Given the description of an element on the screen output the (x, y) to click on. 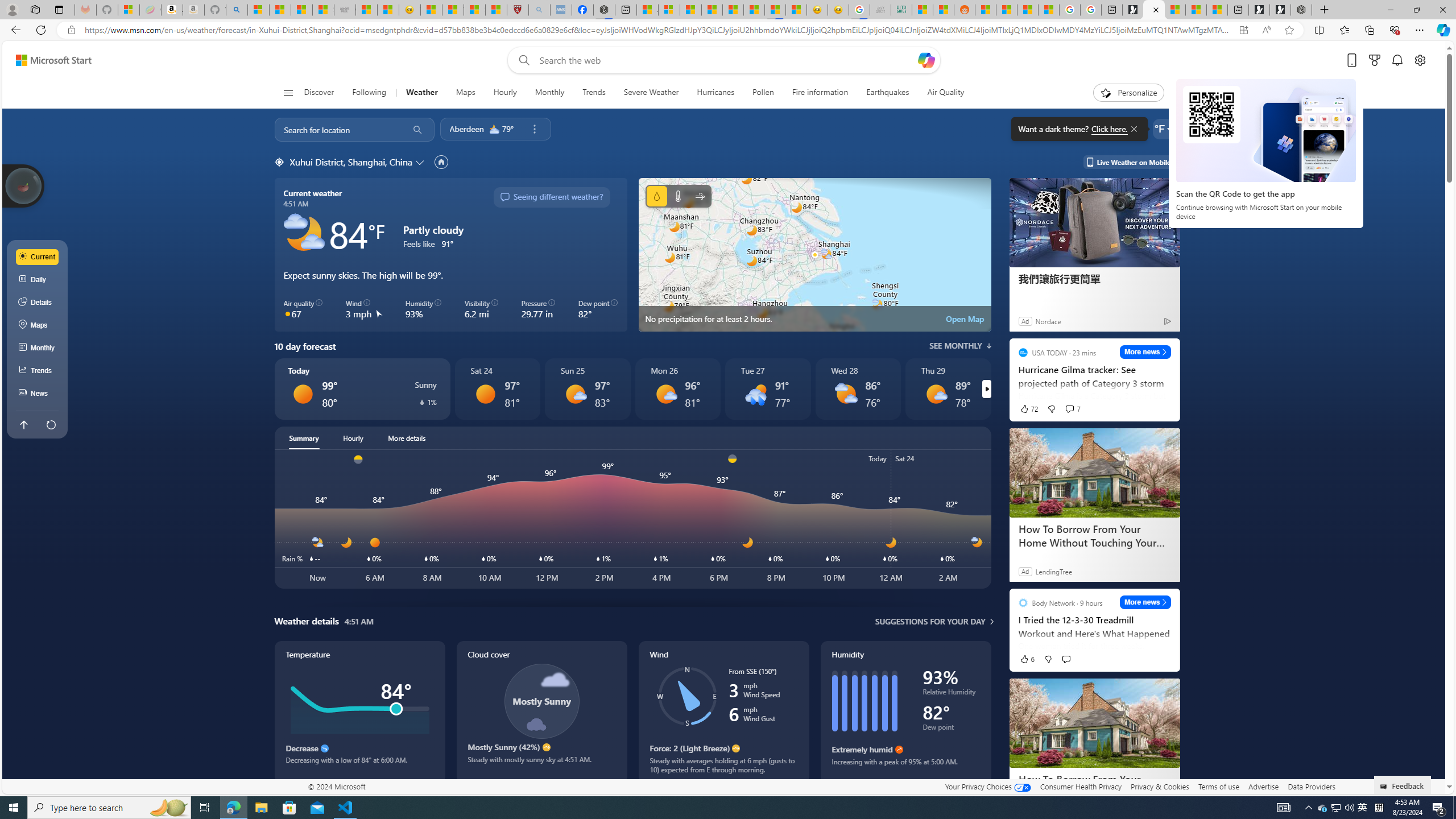
Summary (303, 437)
Back to top (23, 424)
Trends (593, 92)
Air Quality (945, 92)
Hurricanes (715, 92)
